Given the description of an element on the screen output the (x, y) to click on. 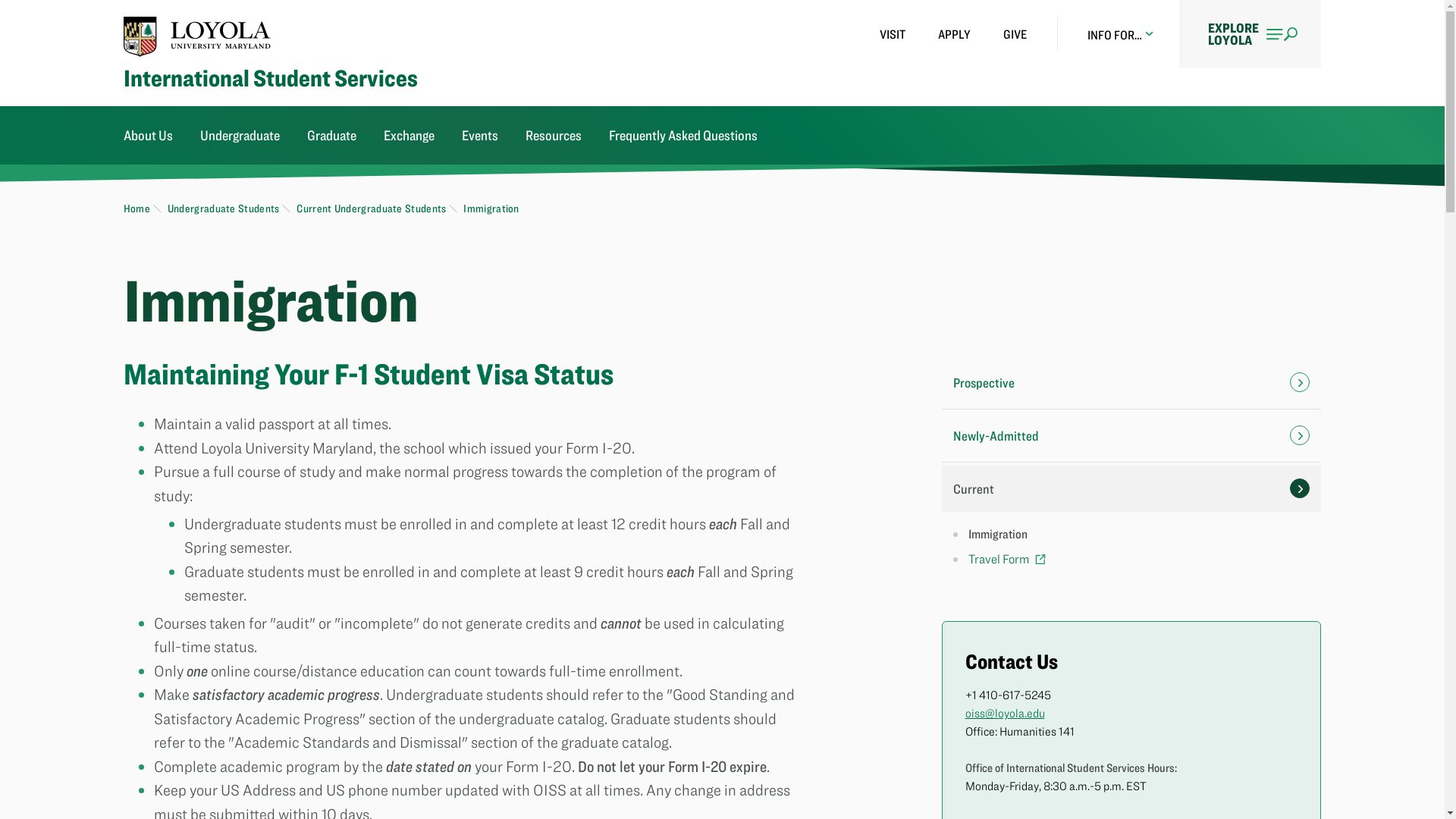
APPLY (954, 34)
VISIT (892, 34)
EXPLORE LOYOLA (1249, 33)
GIVE (1015, 34)
Logo (196, 35)
